Given the description of an element on the screen output the (x, y) to click on. 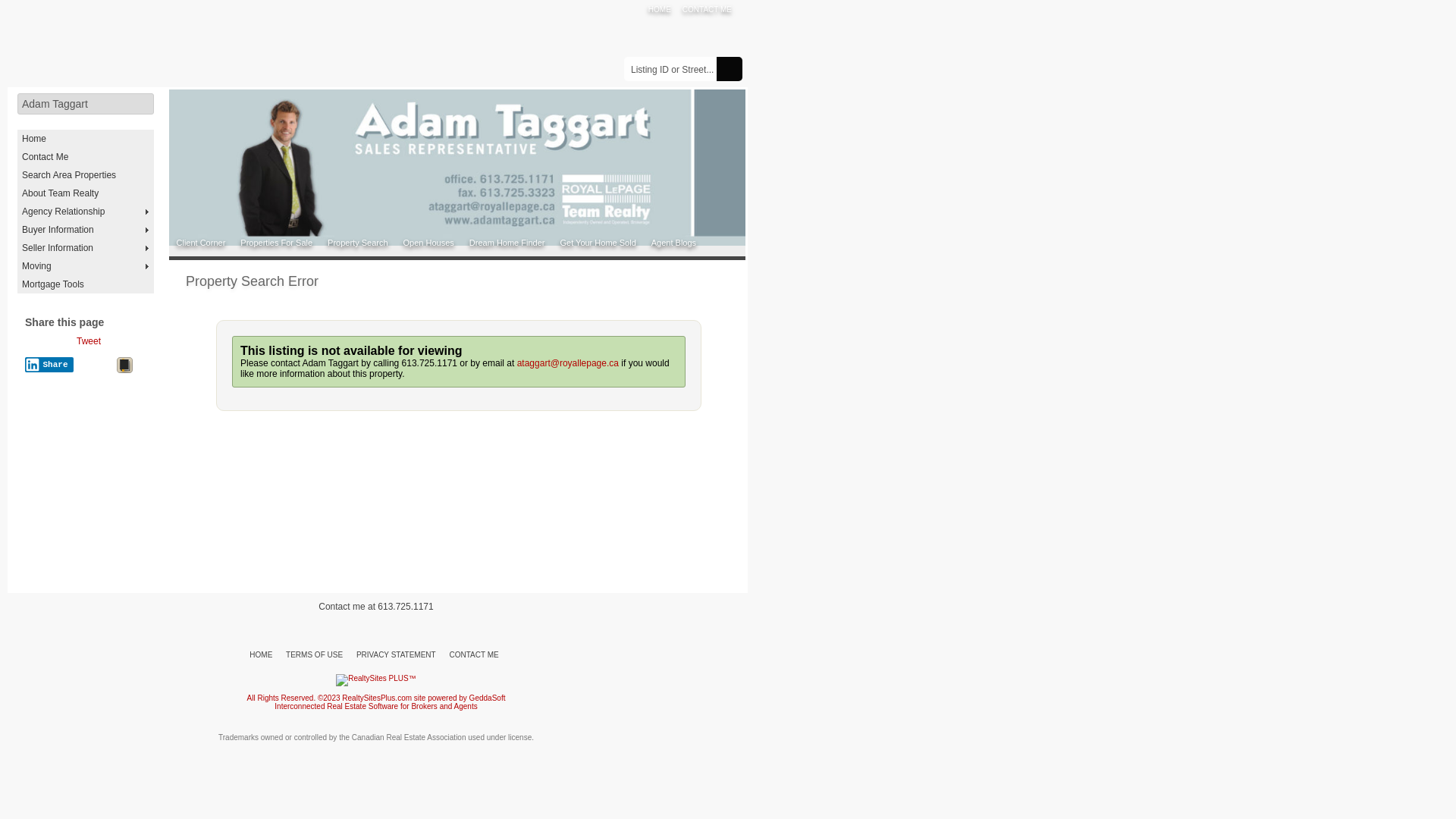
PRIVACY STATEMENT Element type: text (395, 654)
HOME Element type: text (659, 9)
Contact Me Element type: text (85, 156)
About Team Realty Element type: text (85, 193)
Property Search Element type: text (357, 242)
Agency Relationship Element type: text (85, 211)
Dream Home Finder Element type: text (506, 242)
Client Corner Element type: text (200, 242)
Buyer Information Element type: text (85, 229)
Bookmark this Page Element type: hover (124, 367)
CONTACT ME Element type: text (706, 9)
HOME Element type: text (260, 654)
Real Estate Software Element type: text (362, 706)
Seller Information Element type: text (85, 247)
Share on Facebook Element type: hover (45, 343)
TERMS OF USE Element type: text (314, 654)
Share Element type: text (49, 364)
ataggart@royallepage.ca Element type: text (567, 362)
Mortgage Tools Element type: text (85, 284)
Moving Element type: text (85, 266)
Home Element type: text (85, 138)
Search Area Properties Element type: text (85, 175)
Agent Blogs Element type: text (673, 242)
Tweet Element type: text (88, 340)
CONTACT ME Element type: text (473, 654)
for Brokers and Agents Element type: text (438, 706)
Properties For Sale Element type: text (276, 242)
Open Houses Element type: text (428, 242)
Get Your Home Sold Element type: text (597, 242)
